Given the description of an element on the screen output the (x, y) to click on. 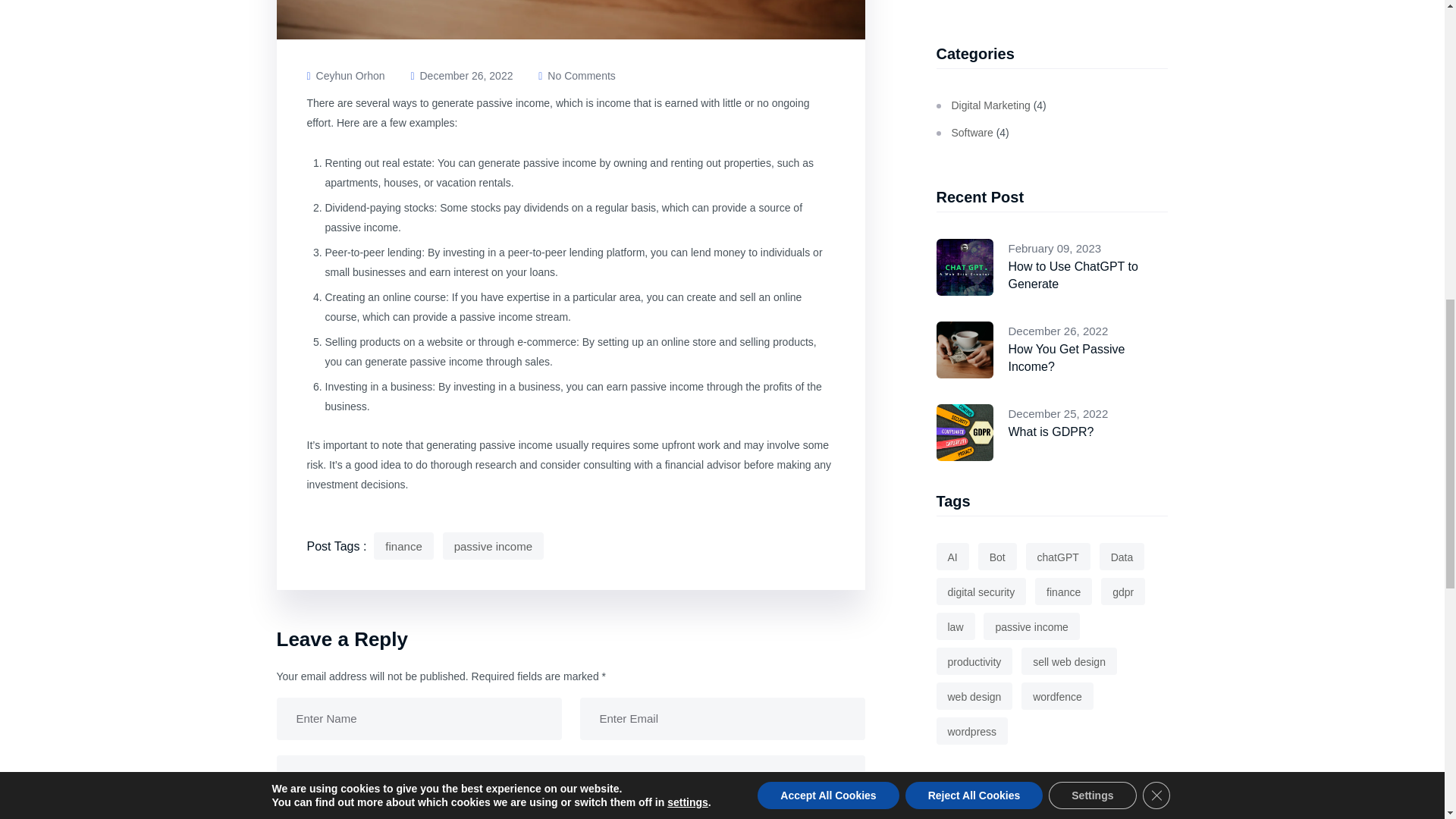
passive income (492, 545)
finance (403, 545)
No Comments (576, 75)
Ceyhun Orhon (344, 75)
